Given the description of an element on the screen output the (x, y) to click on. 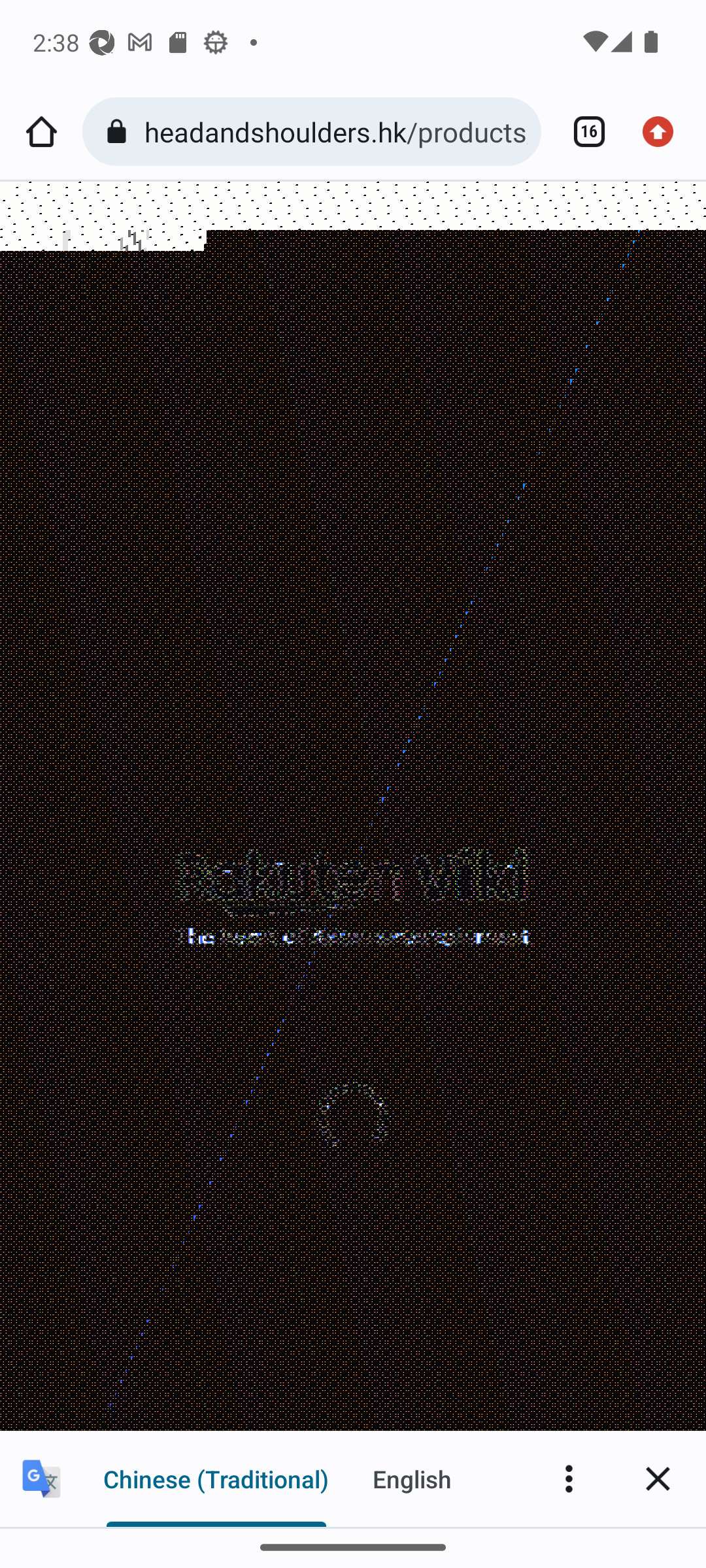
Home (41, 131)
Connection is secure (120, 131)
Switch or close tabs (582, 131)
Update available. More options (664, 131)
English (411, 1478)
More options (568, 1478)
Close (657, 1478)
